Given the description of an element on the screen output the (x, y) to click on. 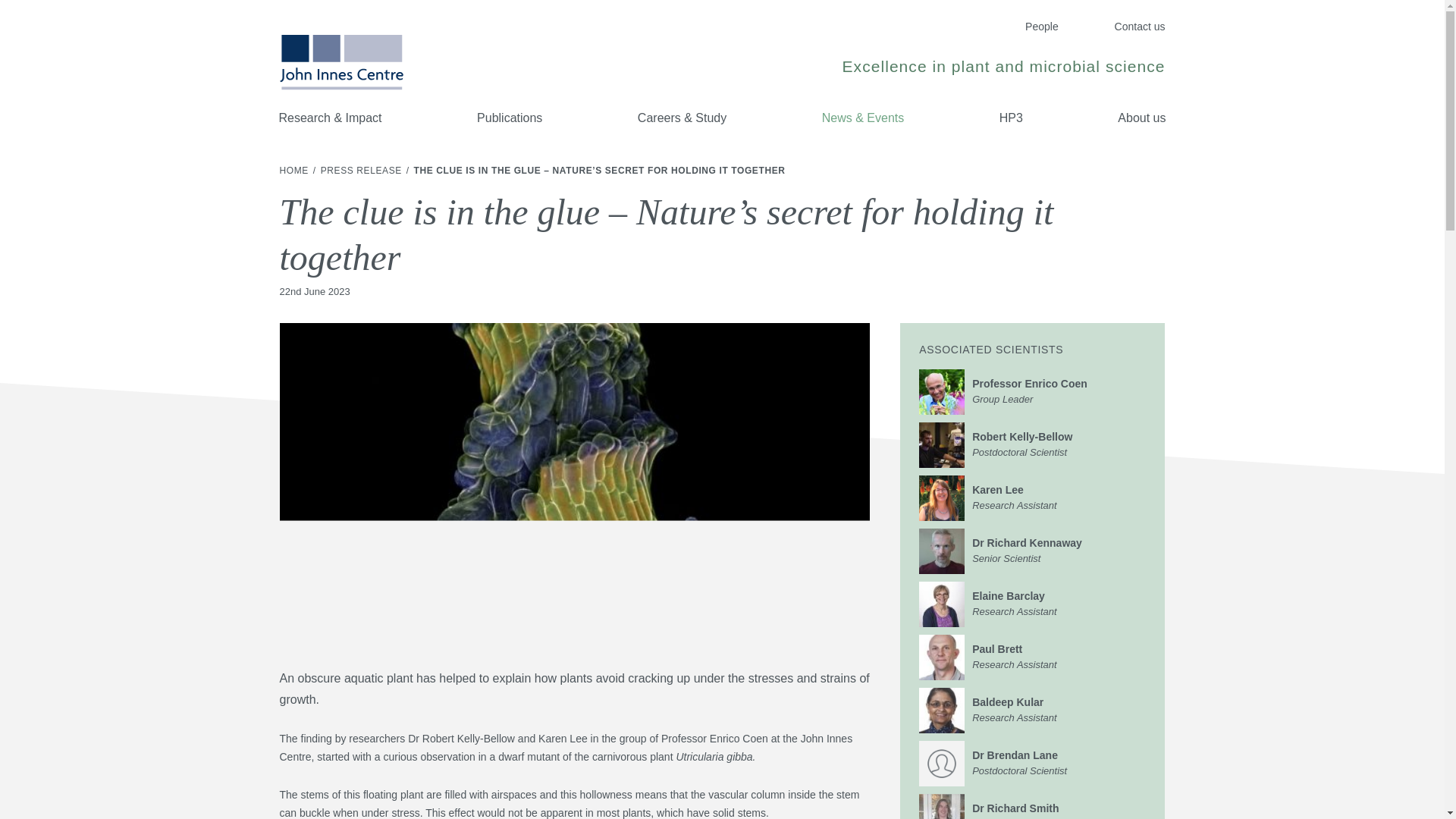
HOME (1031, 709)
About us (1031, 550)
Contact us (1031, 497)
People (295, 170)
